Given the description of an element on the screen output the (x, y) to click on. 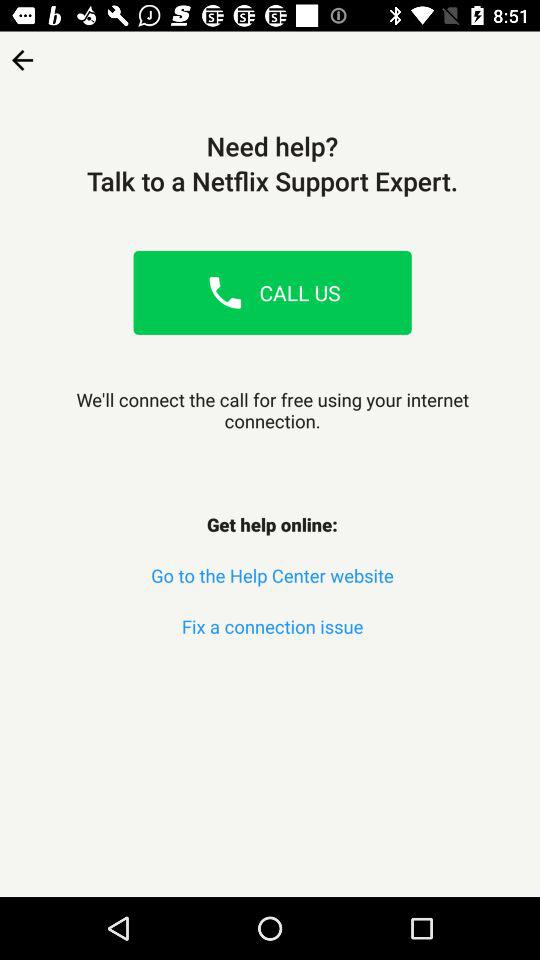
turn on icon above we ll connect icon (22, 53)
